Given the description of an element on the screen output the (x, y) to click on. 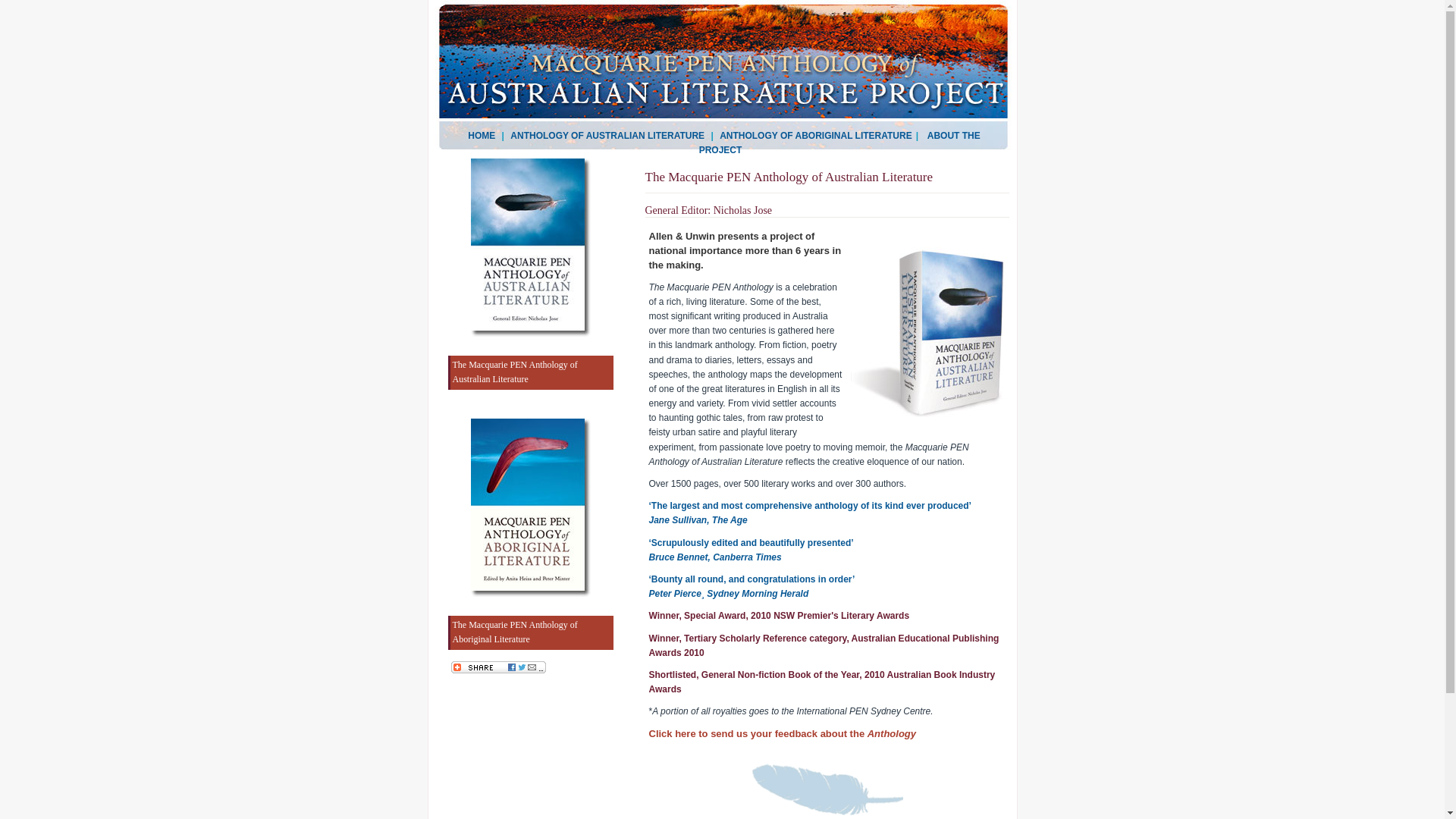
HOME Element type: text (481, 135)
The Macquarie PEN Anthology of Aboriginal Literature Element type: text (529, 632)
ABOUT THE PROJECT Element type: text (839, 142)
ANTHOLOGY OF AUSTRALIAN LITERATURE Element type: text (607, 135)
ANTHOLOGY OF ABORIGINAL LITERATURE Element type: text (815, 135)
Click here to send us your feedback about the Anthology Element type: text (782, 733)
The Macquarie PEN Anthology of Australian Literature Element type: text (529, 372)
